Given the description of an element on the screen output the (x, y) to click on. 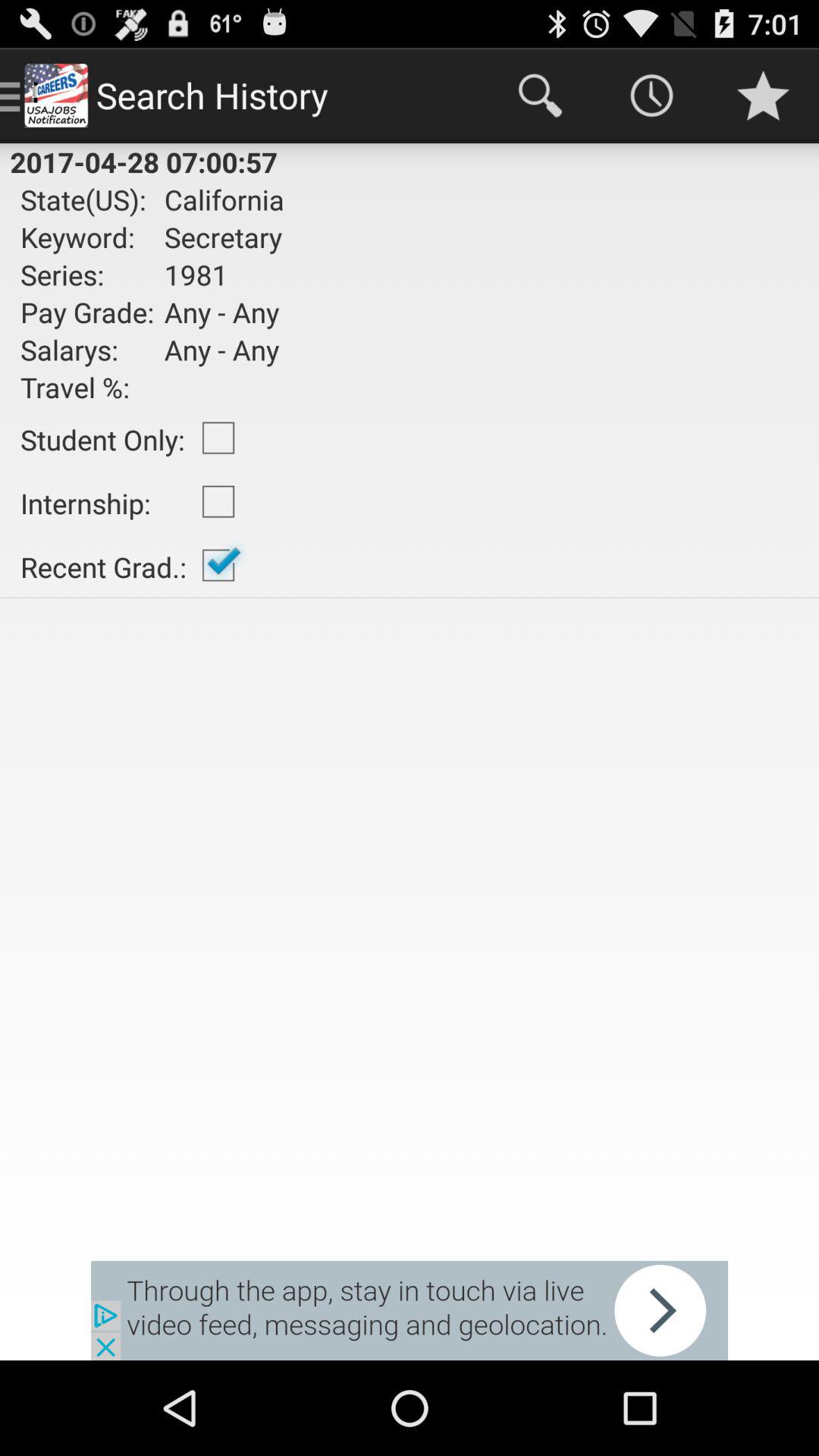
advertisement (409, 1310)
